Given the description of an element on the screen output the (x, y) to click on. 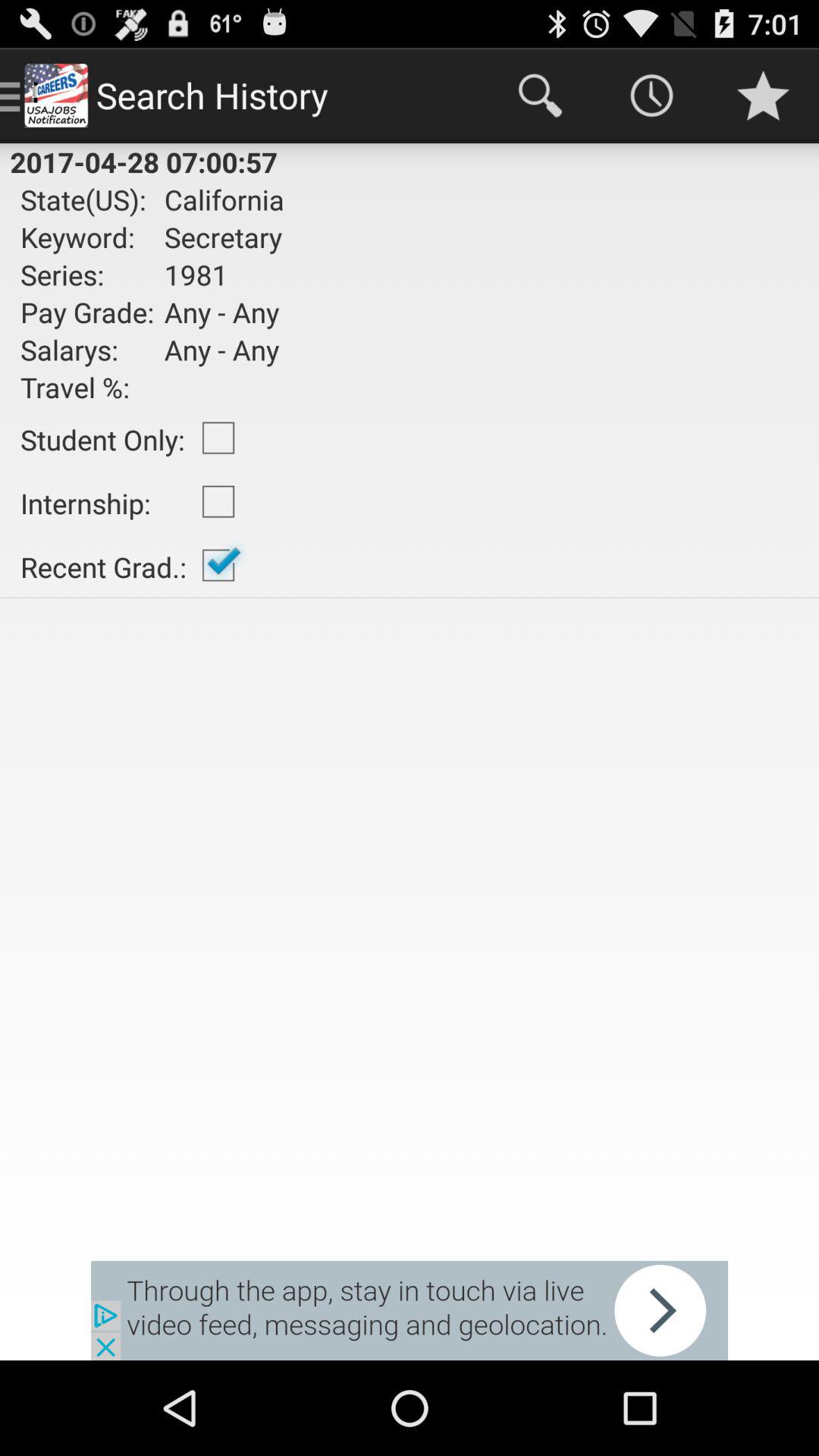
advertisement (409, 1310)
